Given the description of an element on the screen output the (x, y) to click on. 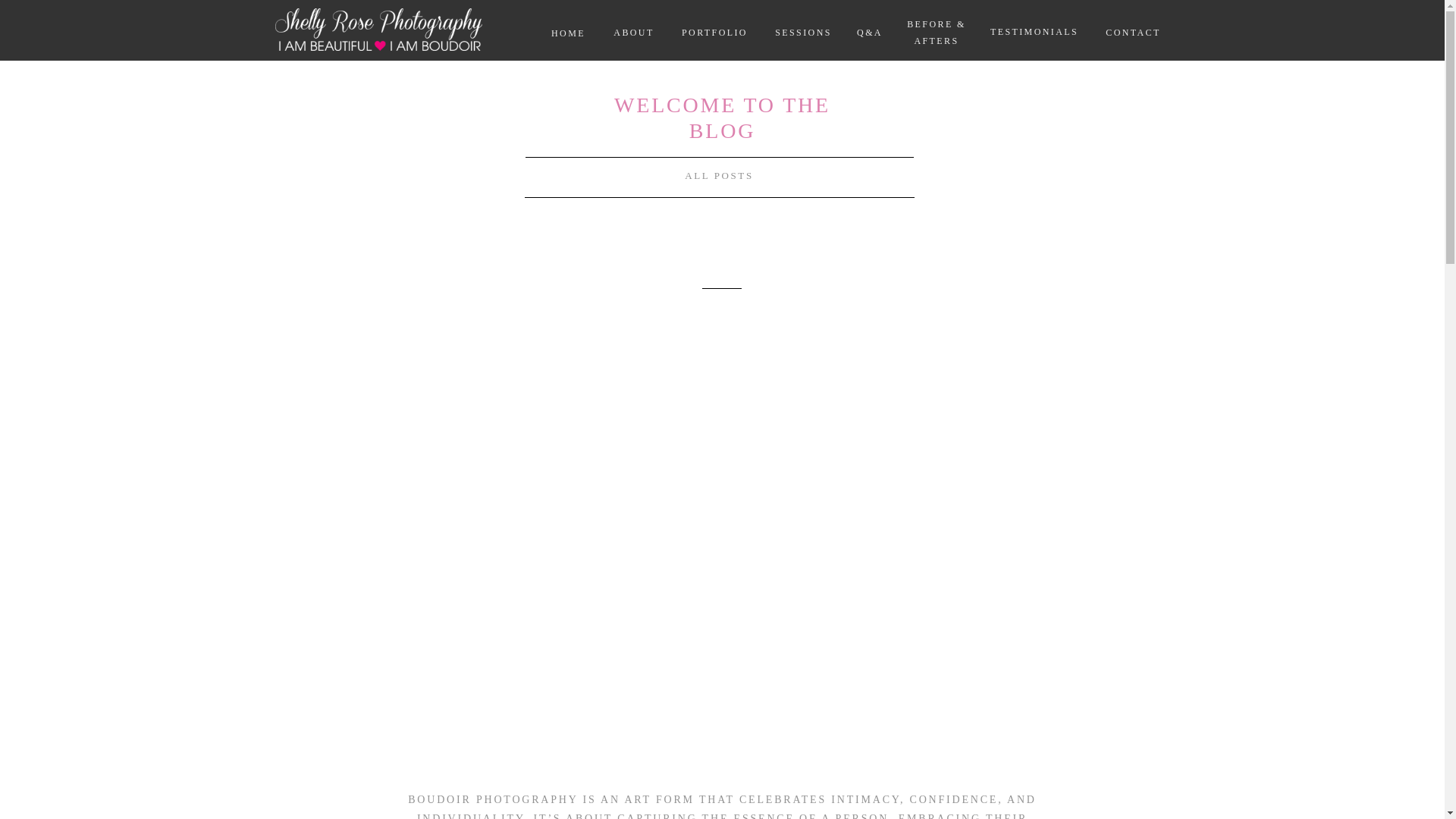
PORTFOLIO (715, 32)
WELCOME TO THE BLOG (722, 107)
ABOUT (633, 32)
SESSIONS (802, 32)
HOME (568, 32)
ALL POSTS (718, 177)
CONTACT (1133, 32)
TESTIMONIALS (1034, 32)
